Given the description of an element on the screen output the (x, y) to click on. 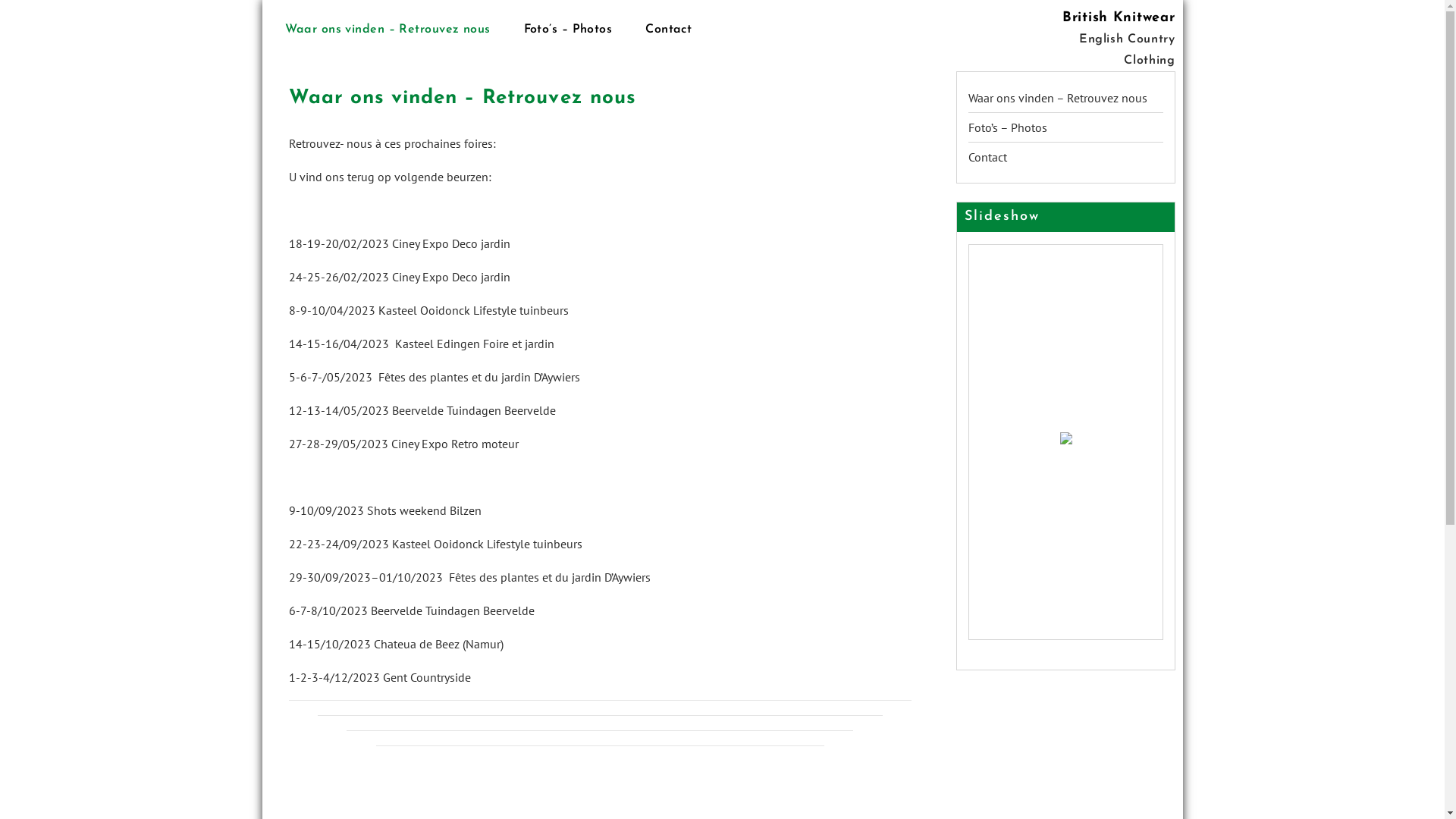
Contact Element type: text (987, 156)
Skip to content Element type: text (268, 6)
Contact Element type: text (668, 29)
British Knitwear Element type: text (1118, 17)
